Given the description of an element on the screen output the (x, y) to click on. 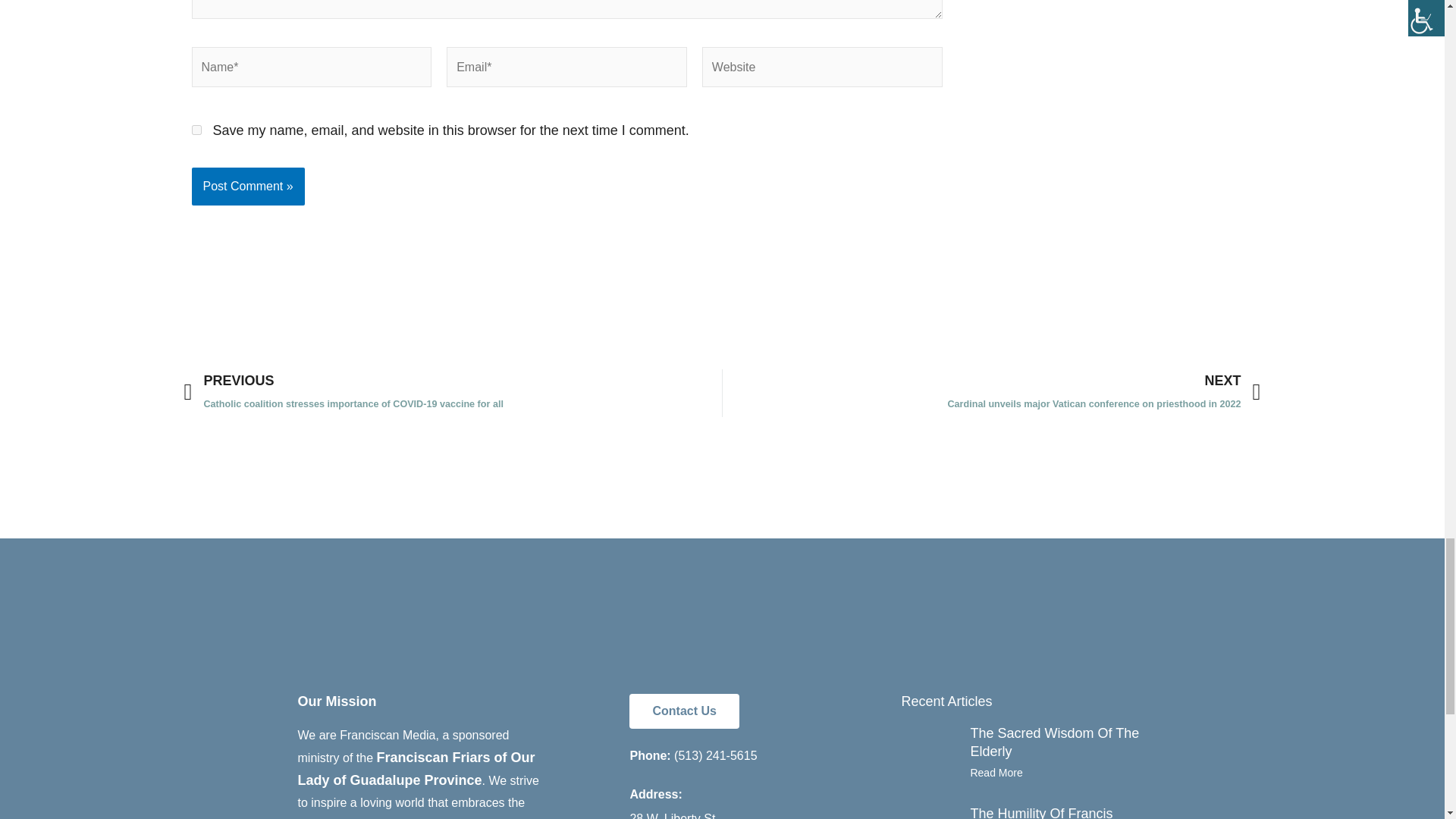
yes (195, 130)
